Given the description of an element on the screen output the (x, y) to click on. 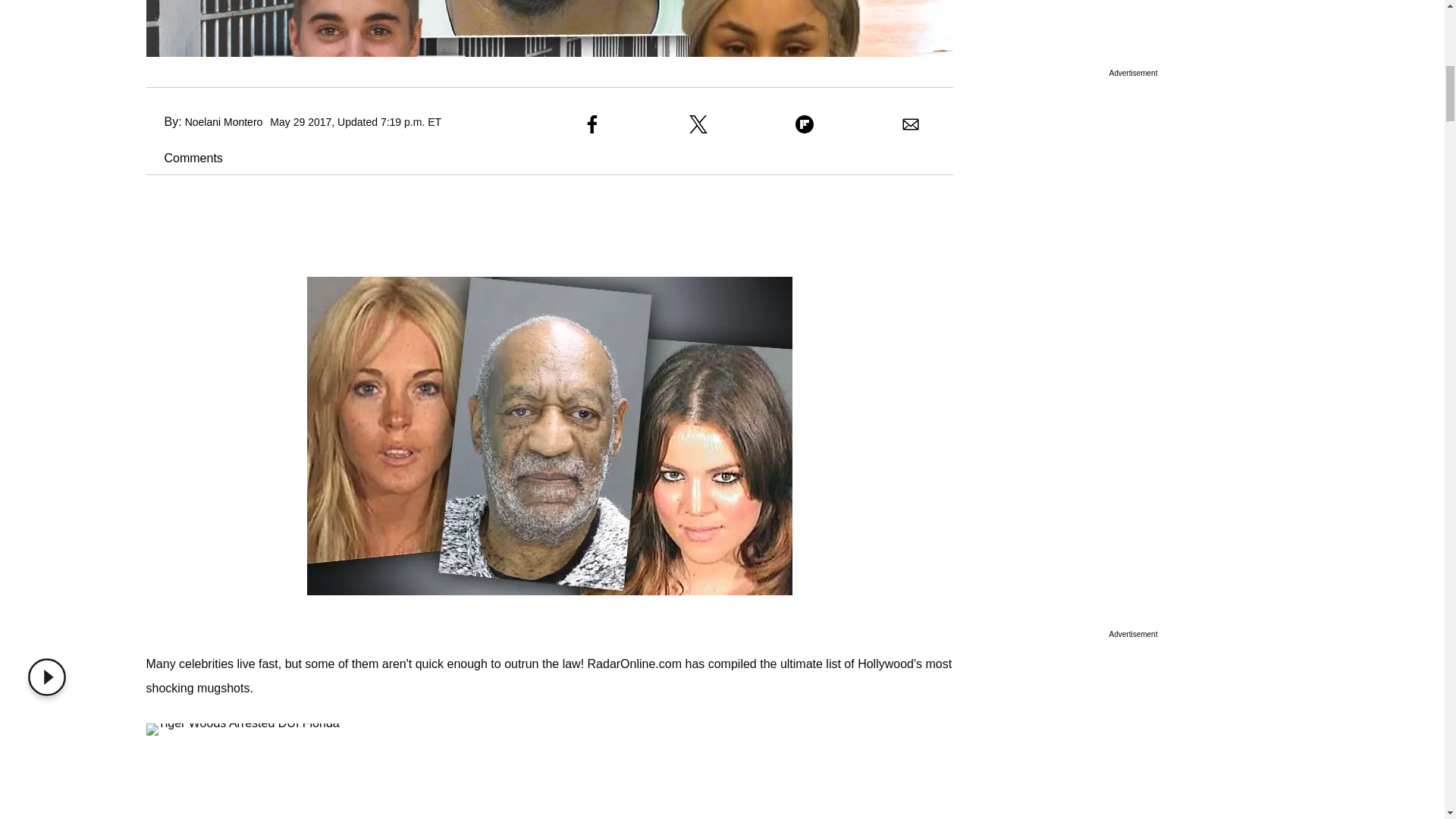
Share to Email (909, 124)
Share to Facebook (590, 124)
Comments (183, 157)
Share to X (697, 124)
Noelani Montero (223, 121)
Share to Flipboard (803, 124)
